Given the description of an element on the screen output the (x, y) to click on. 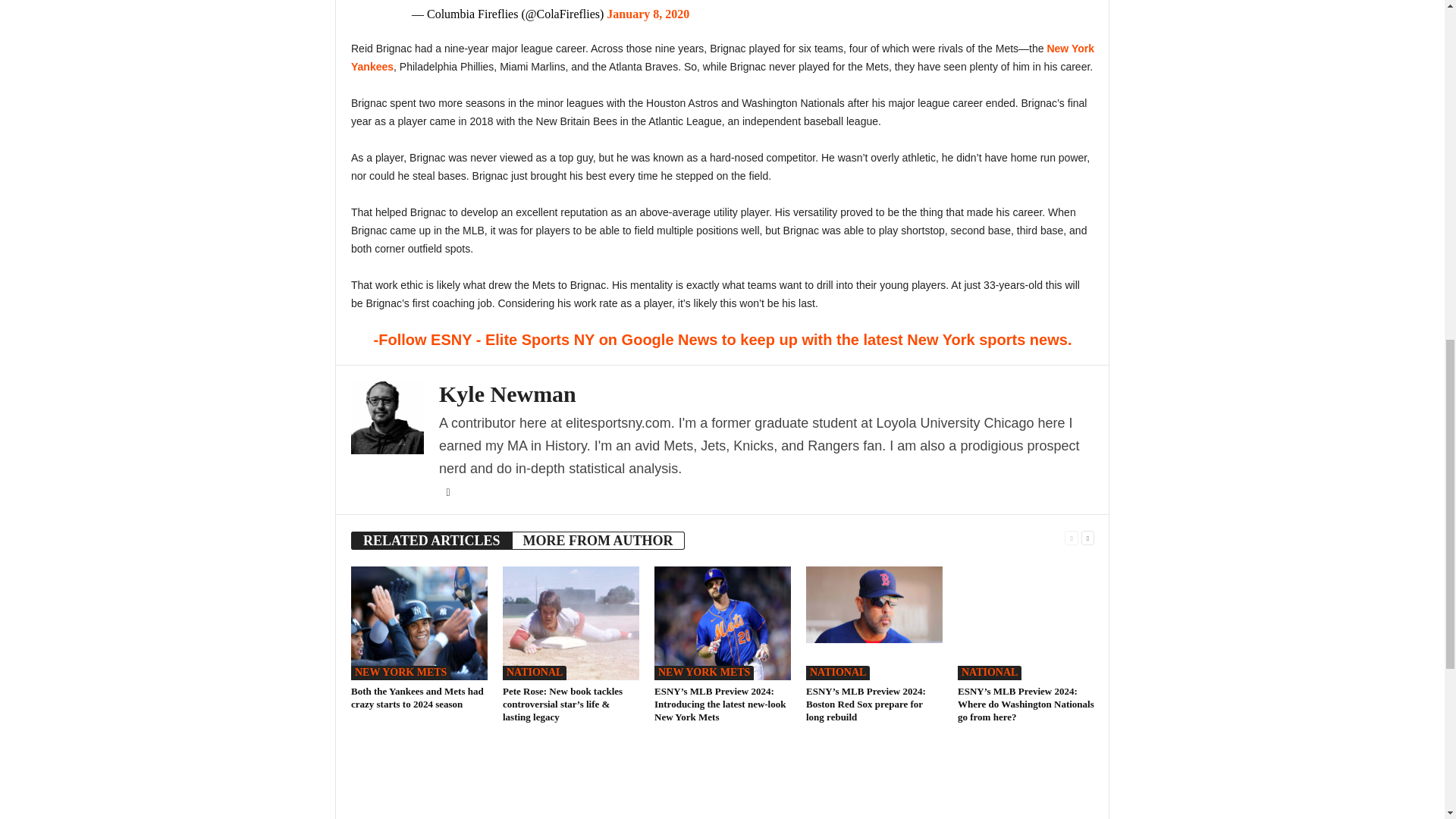
Both the Yankees and Mets had crazy starts to 2024 season (416, 697)
Both the Yankees and Mets had crazy starts to 2024 season (418, 623)
Twitter (448, 492)
